Given the description of an element on the screen output the (x, y) to click on. 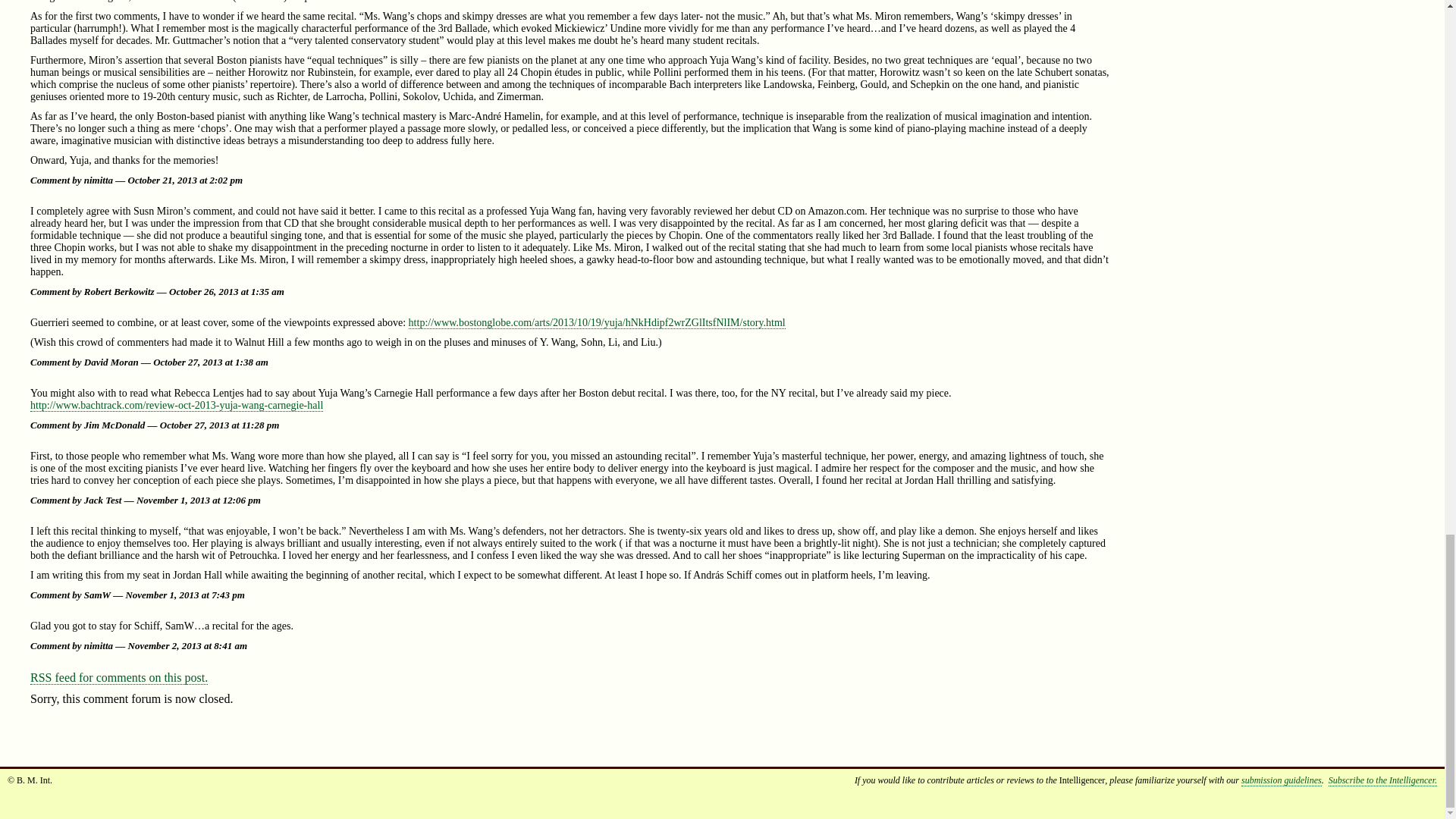
RSS feed for comments on this post. (119, 677)
Really Simple Syndication (40, 676)
submission guidelines (1281, 780)
Subscribe to the Intelligencer. (1382, 780)
